Given the description of an element on the screen output the (x, y) to click on. 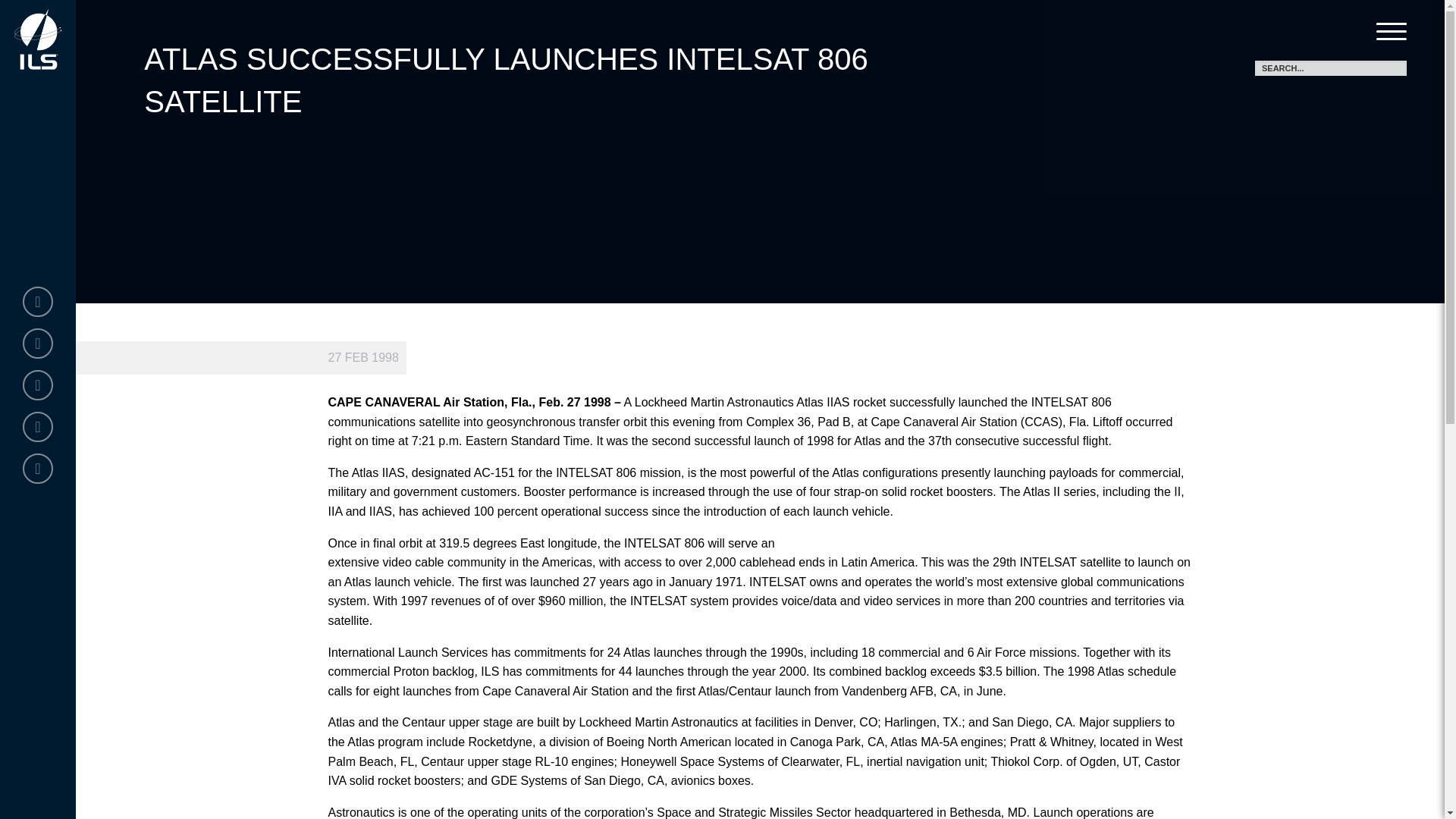
Search (1395, 68)
Search (1395, 68)
Search (1395, 68)
Search for: (1330, 68)
